Given the description of an element on the screen output the (x, y) to click on. 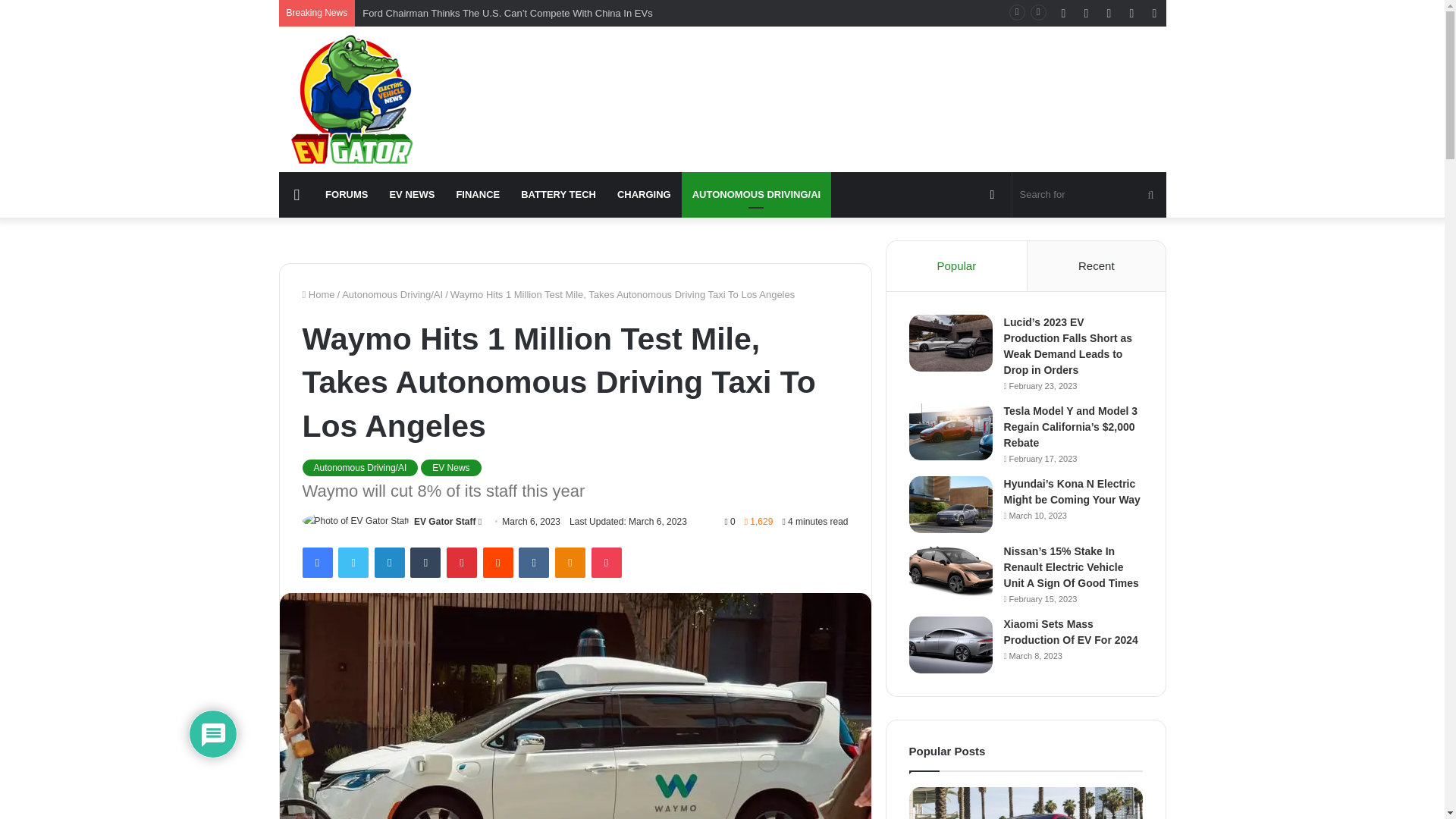
Facebook (316, 562)
VKontakte (533, 562)
FORUMS (346, 194)
FINANCE (478, 194)
Twitter (352, 562)
EV Gator Staff (444, 521)
EV NEWS (411, 194)
CHARGING (644, 194)
Evgator.com (352, 98)
Pocket (606, 562)
